Given the description of an element on the screen output the (x, y) to click on. 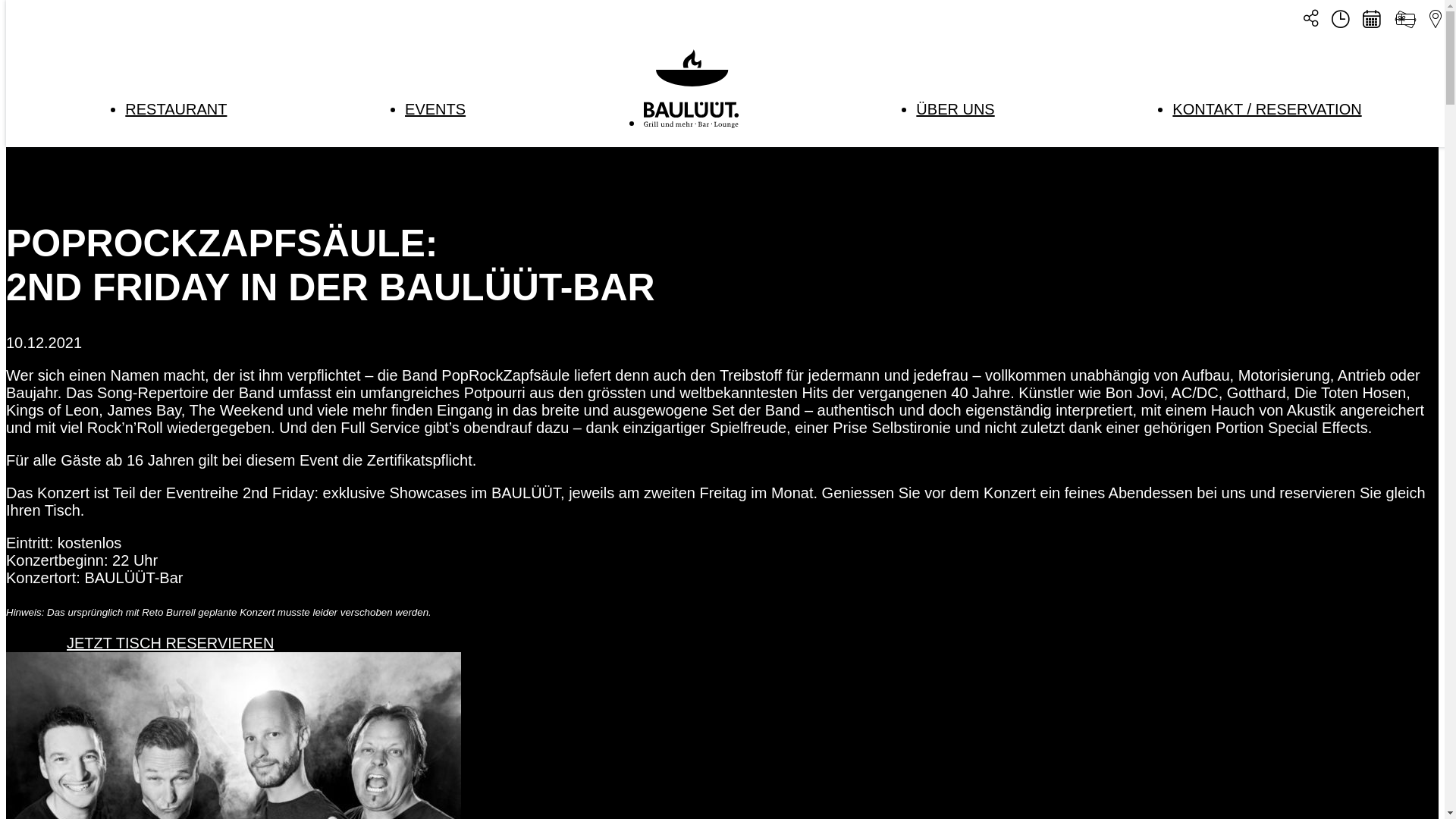
Events Element type: hover (1370, 20)
RESTAURANT Element type: text (175, 108)
KONTAKT / RESERVATION Element type: text (1266, 108)
Gutschein Element type: hover (1404, 22)
Teilen Element type: hover (1310, 18)
Standort Element type: hover (1435, 20)
JETZT TISCH RESERVIEREN Element type: text (170, 641)
EVENTS Element type: text (434, 108)
